Given the description of an element on the screen output the (x, y) to click on. 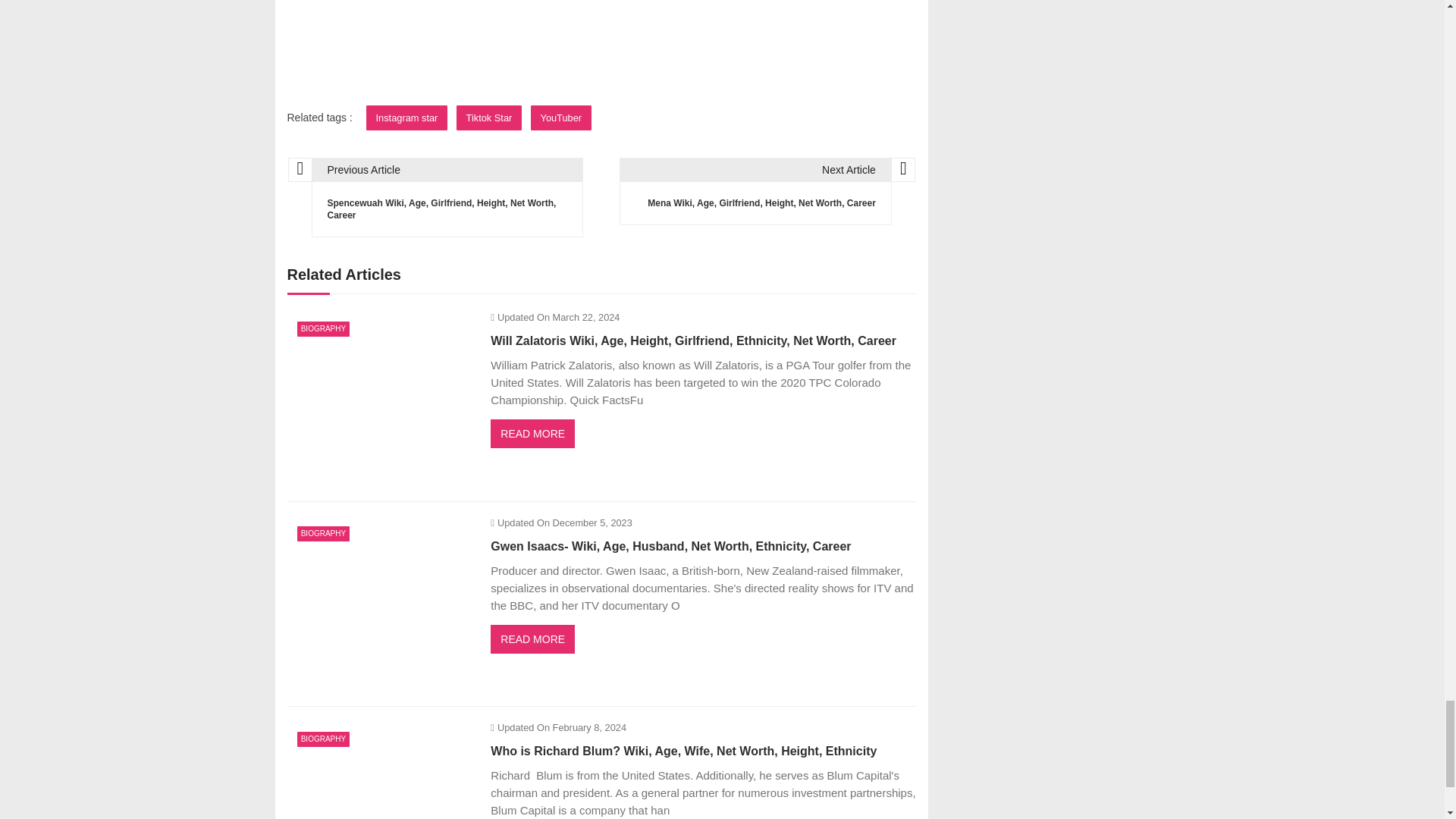
YouTuber (561, 117)
Tiktok Star (489, 117)
Instagram star (407, 117)
